Given the description of an element on the screen output the (x, y) to click on. 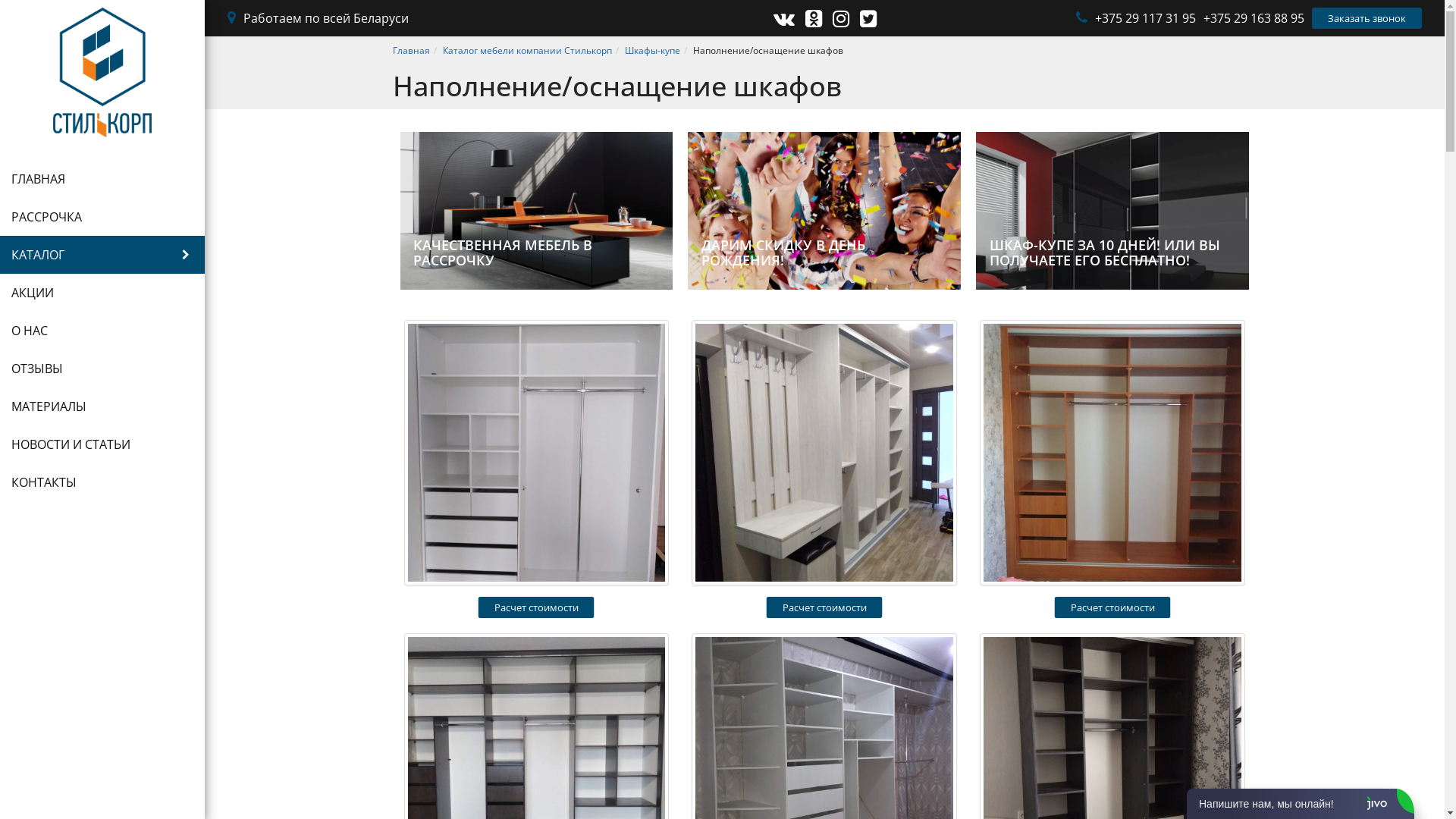
+375 29 163 88 95 Element type: text (1253, 17)
+375 29 117 31 95 Element type: text (1145, 17)
